Given the description of an element on the screen output the (x, y) to click on. 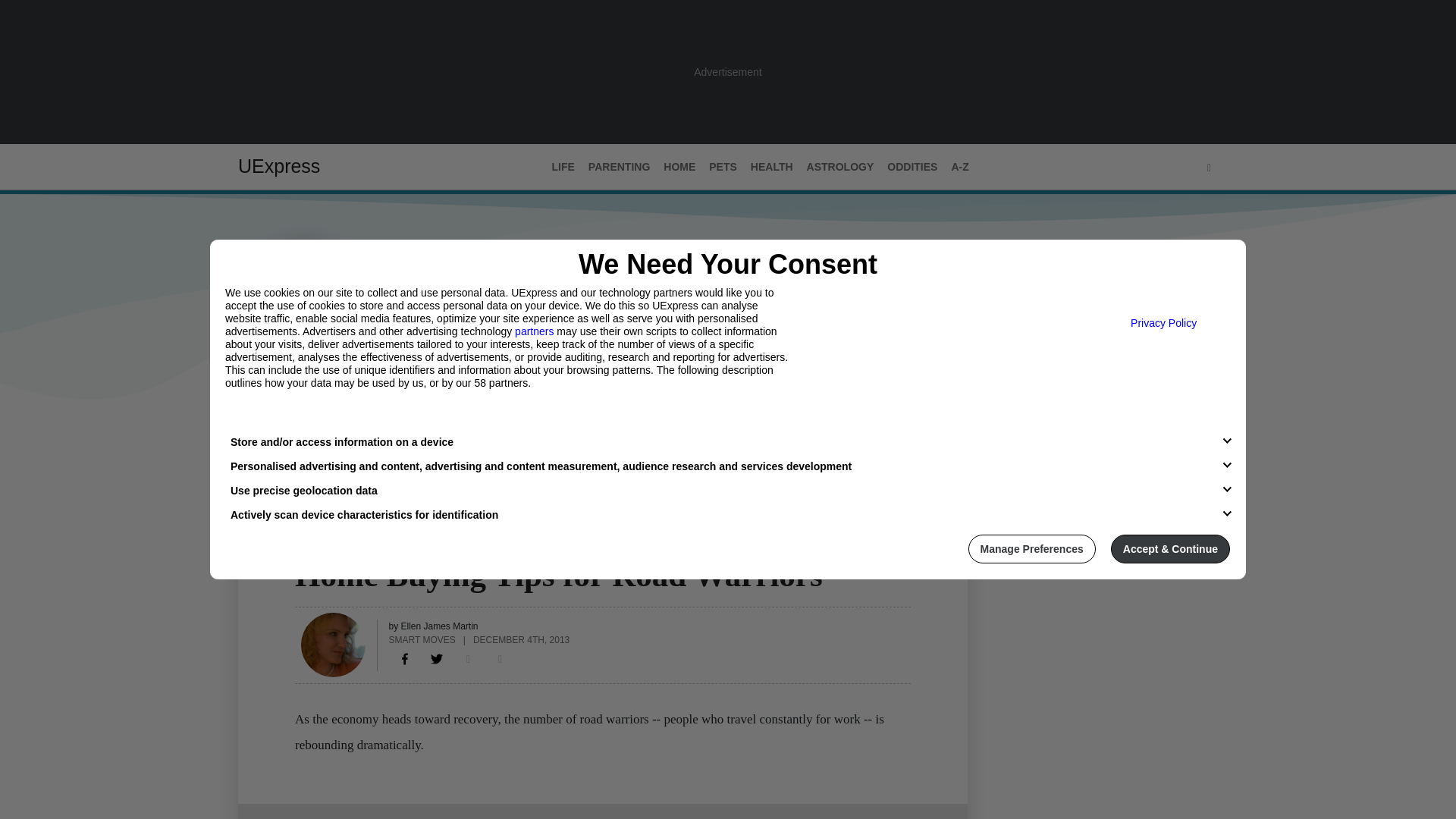
ODDITIES (911, 166)
LIFE (562, 166)
HEALTH (771, 166)
About (309, 431)
A-Z (959, 166)
HOME (310, 545)
SMART MOVES (421, 639)
HOME (678, 166)
ASTROLOGY (839, 166)
Latest (256, 431)
PARENTING (618, 166)
UExpress (279, 166)
PETS (722, 166)
Home Buying Tips for Road Warriors (404, 658)
Archives (371, 431)
